Given the description of an element on the screen output the (x, y) to click on. 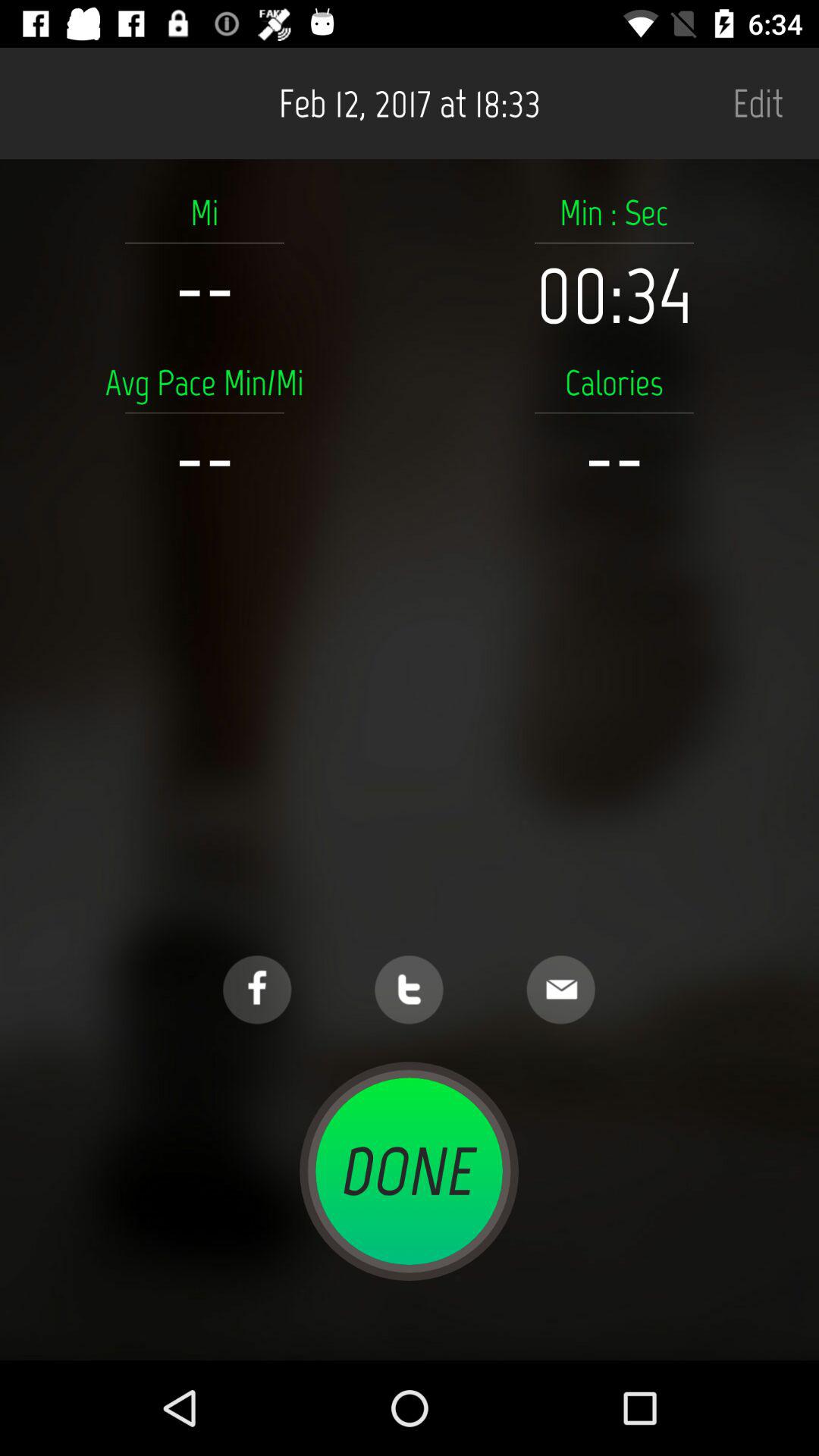
share to facebook (257, 989)
